Given the description of an element on the screen output the (x, y) to click on. 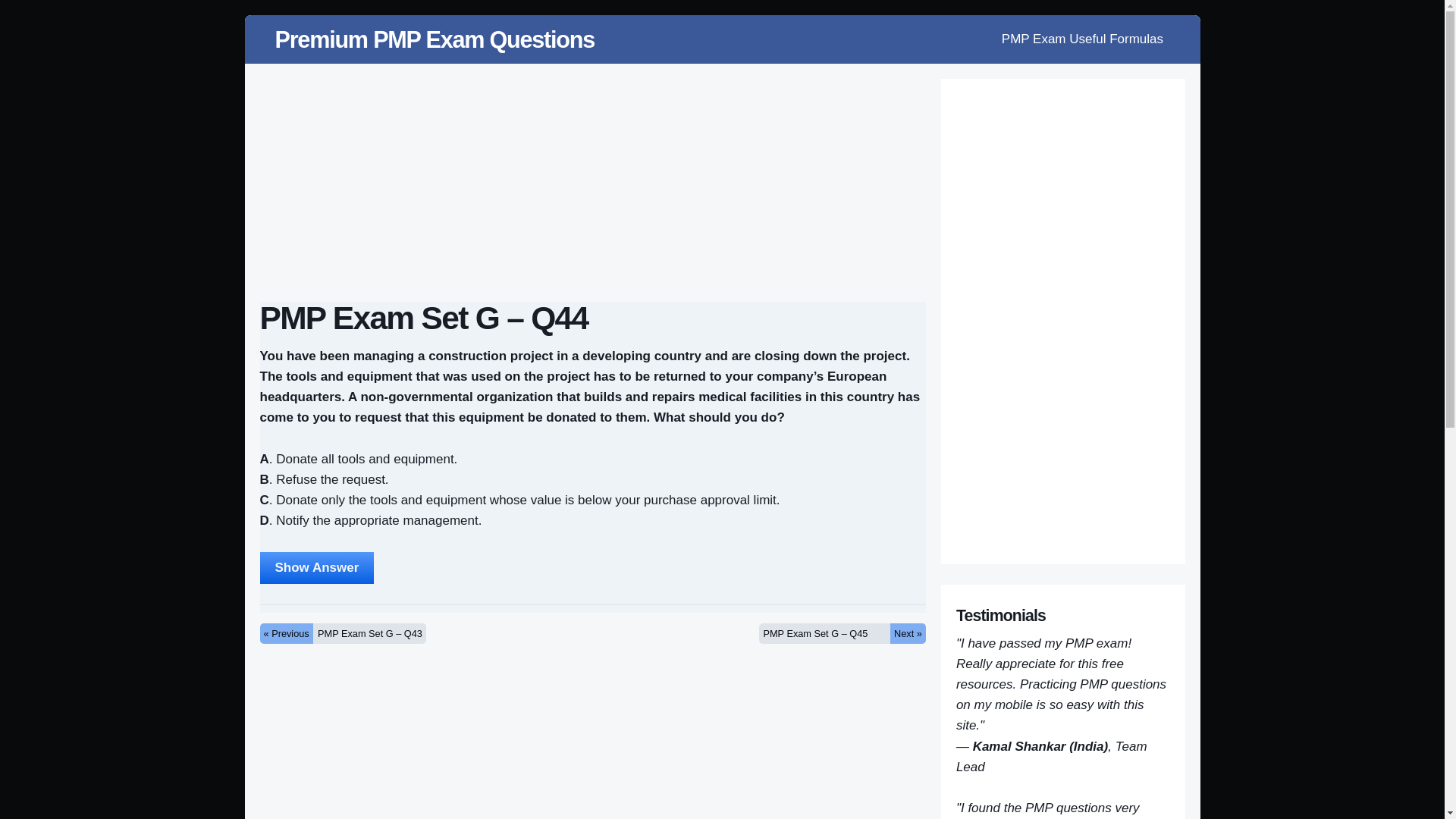
PMP Exam Useful Formulas (1081, 39)
Premium PMP Exam Questions (434, 39)
Advertisement (593, 743)
Show Answer (316, 567)
